Given the description of an element on the screen output the (x, y) to click on. 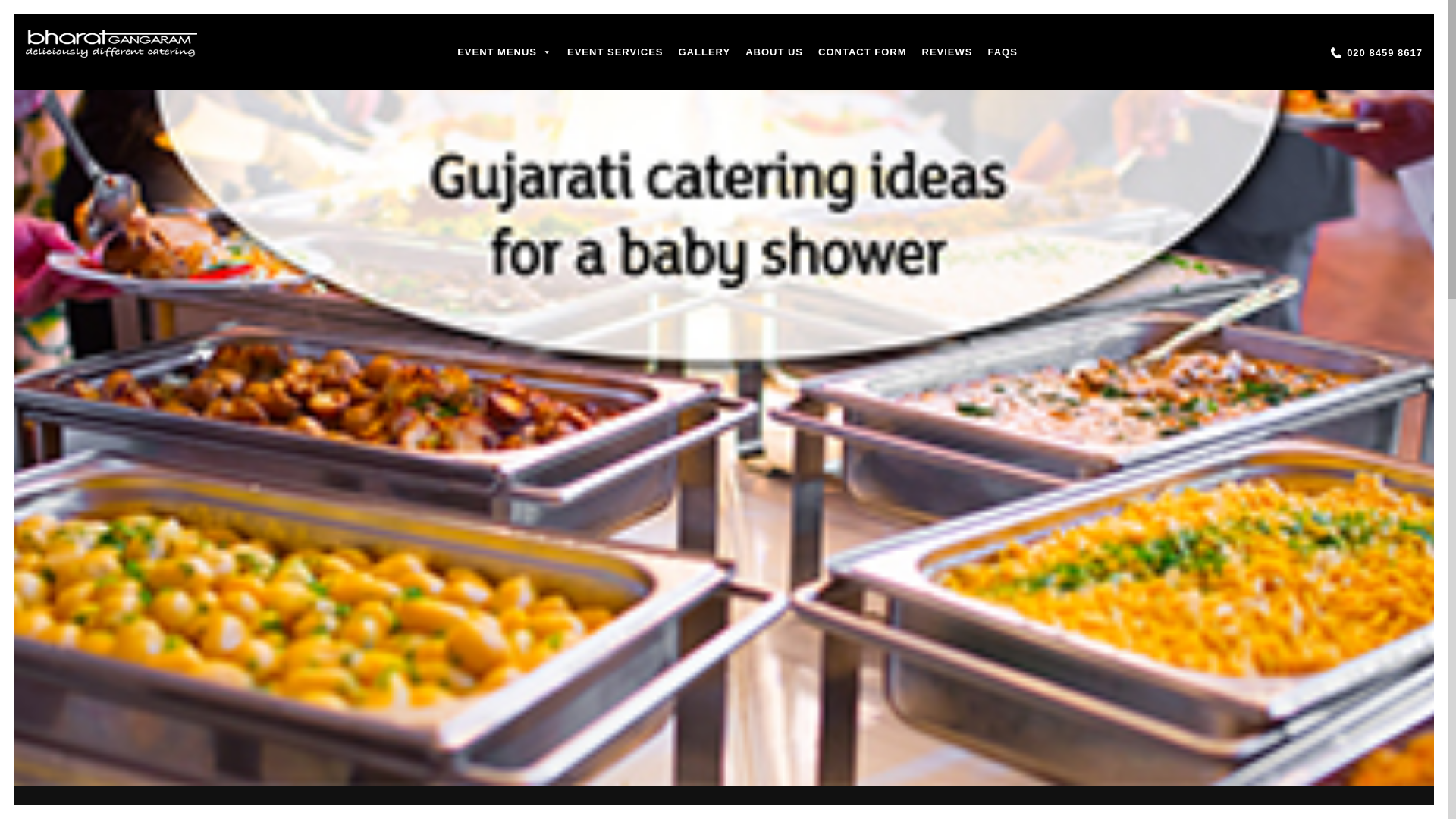
Asian Caterers London (111, 43)
EVENT MENUS (504, 52)
